Given the description of an element on the screen output the (x, y) to click on. 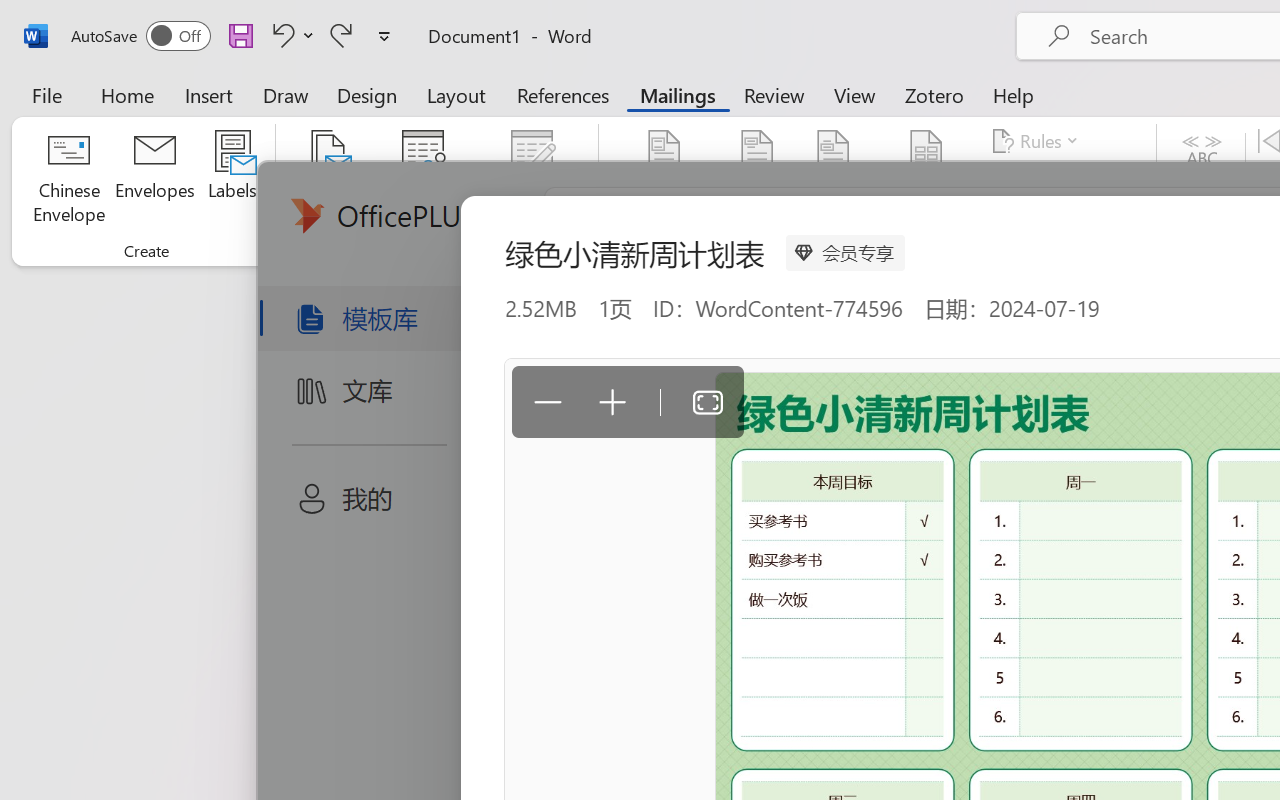
Insert Merge Field (927, 151)
Envelopes... (155, 179)
Select Recipients (423, 179)
Rules (1037, 141)
Undo Apply Quick Style Set (280, 35)
Chinese Envelope... (68, 179)
Undo Apply Quick Style Set (290, 35)
Match Fields... (1057, 179)
